Given the description of an element on the screen output the (x, y) to click on. 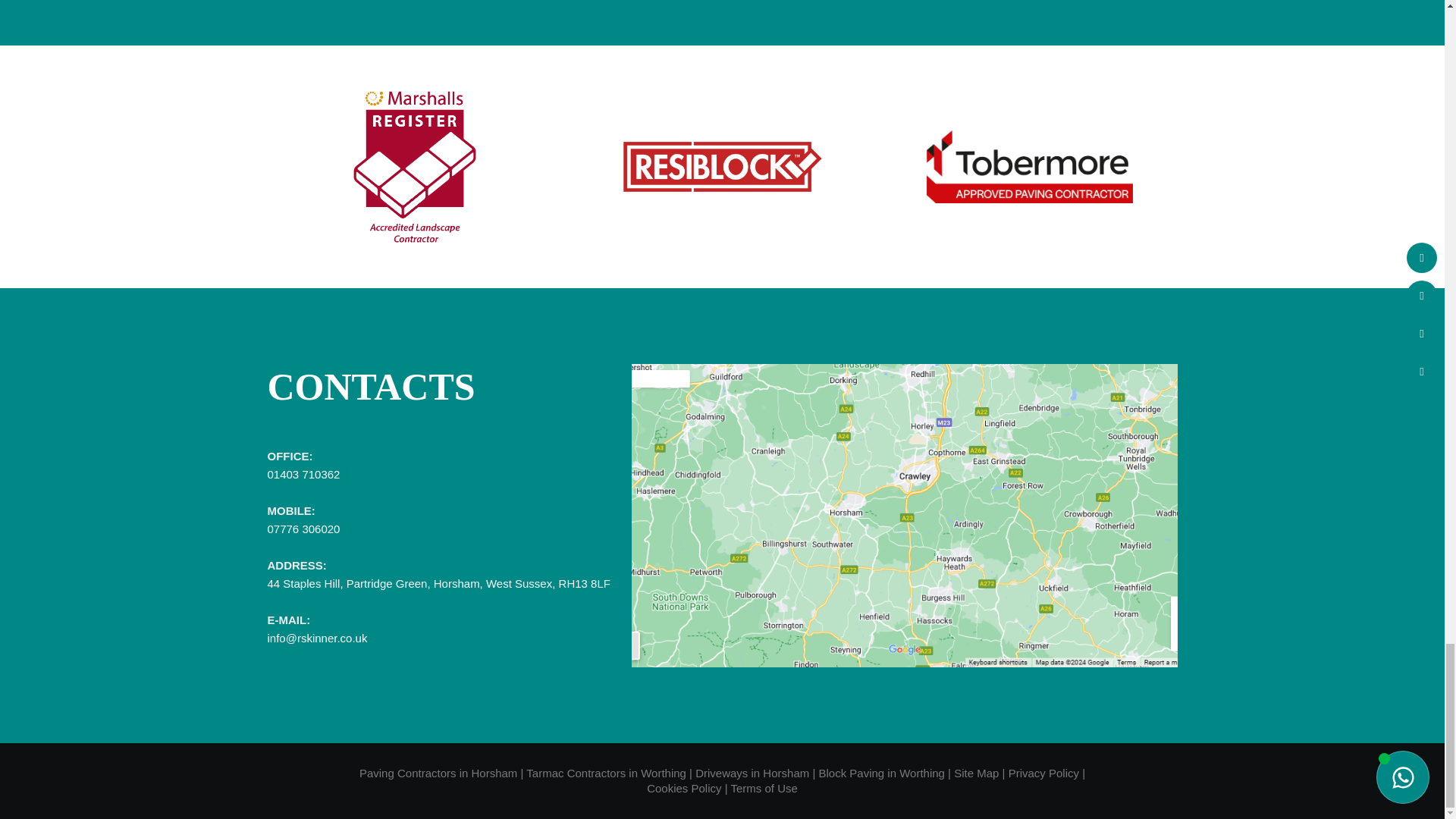
Paving Contractors in Horsham (437, 772)
01403 710362 (302, 482)
Driveways in Horsham (752, 772)
Terms of Use (763, 788)
Privacy Policy (1043, 772)
Site Map (975, 772)
Block Paving in Worthing (880, 772)
Cookies Policy (683, 788)
07776 306020 (302, 528)
Tarmac Contractors in Worthing (605, 772)
